Given the description of an element on the screen output the (x, y) to click on. 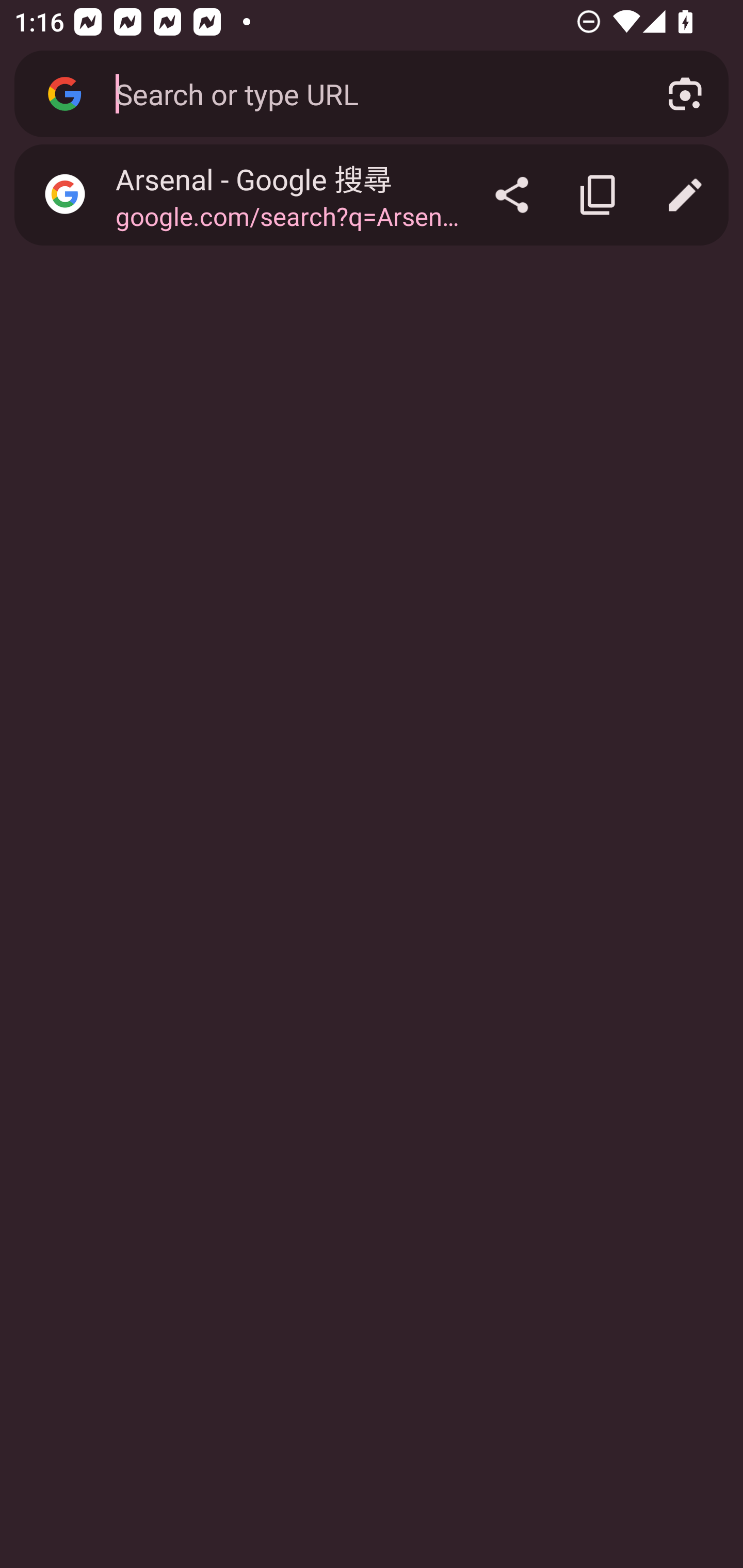
Search with your camera using Google Lens (684, 93)
Search or type URL (367, 92)
Share… (511, 195)
Copy link (598, 195)
Edit (684, 195)
